Given the description of an element on the screen output the (x, y) to click on. 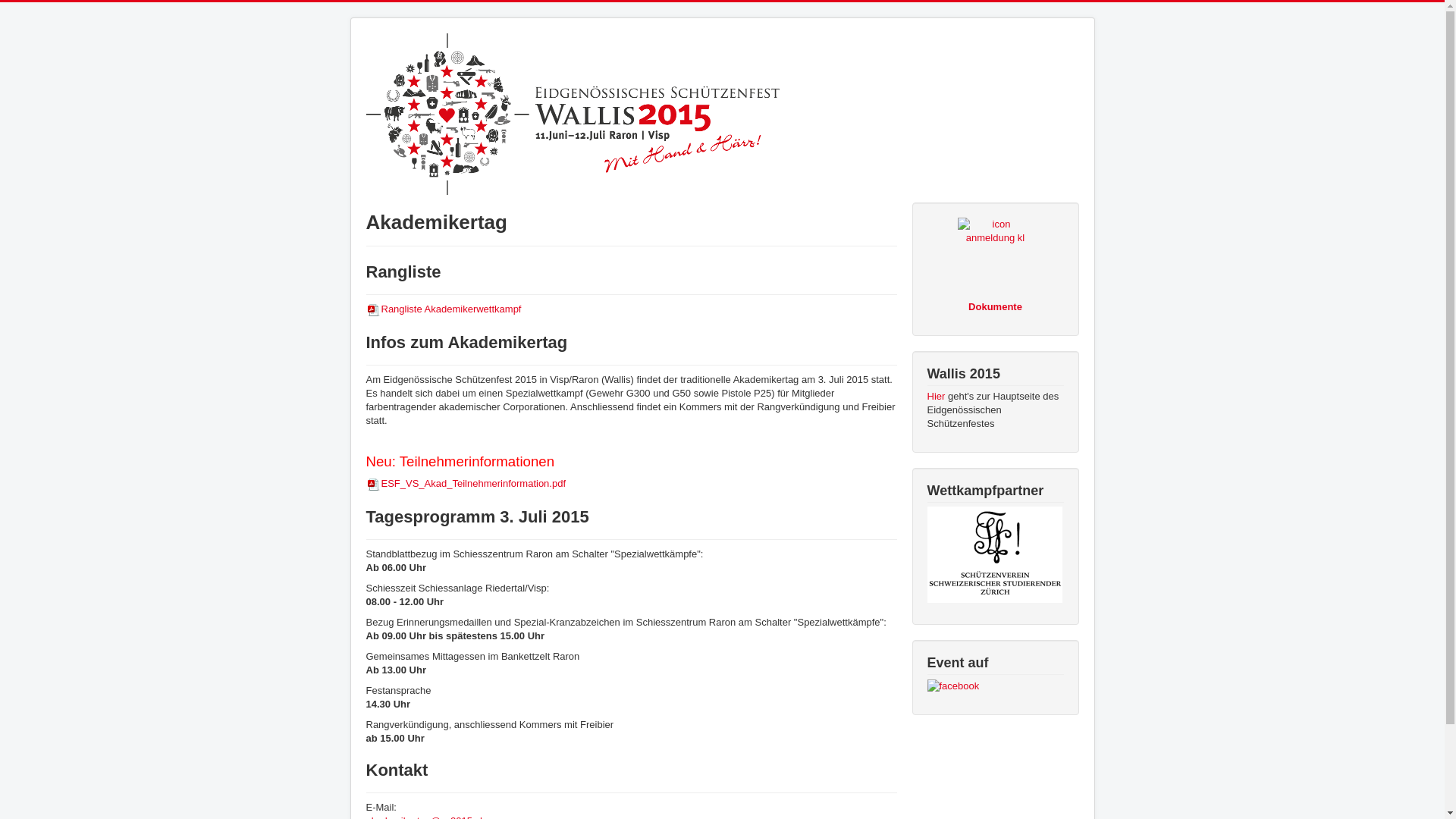
Rangliste Akademikerwettkampf Element type: text (442, 308)
Hier Element type: text (935, 395)
ESF_VS_Akad_Teilnehmerinformation.pdf Element type: text (465, 483)
Dokumente Element type: text (995, 306)
Deutsch - Akademikertag Element type: hover (1055, 39)
